Given the description of an element on the screen output the (x, y) to click on. 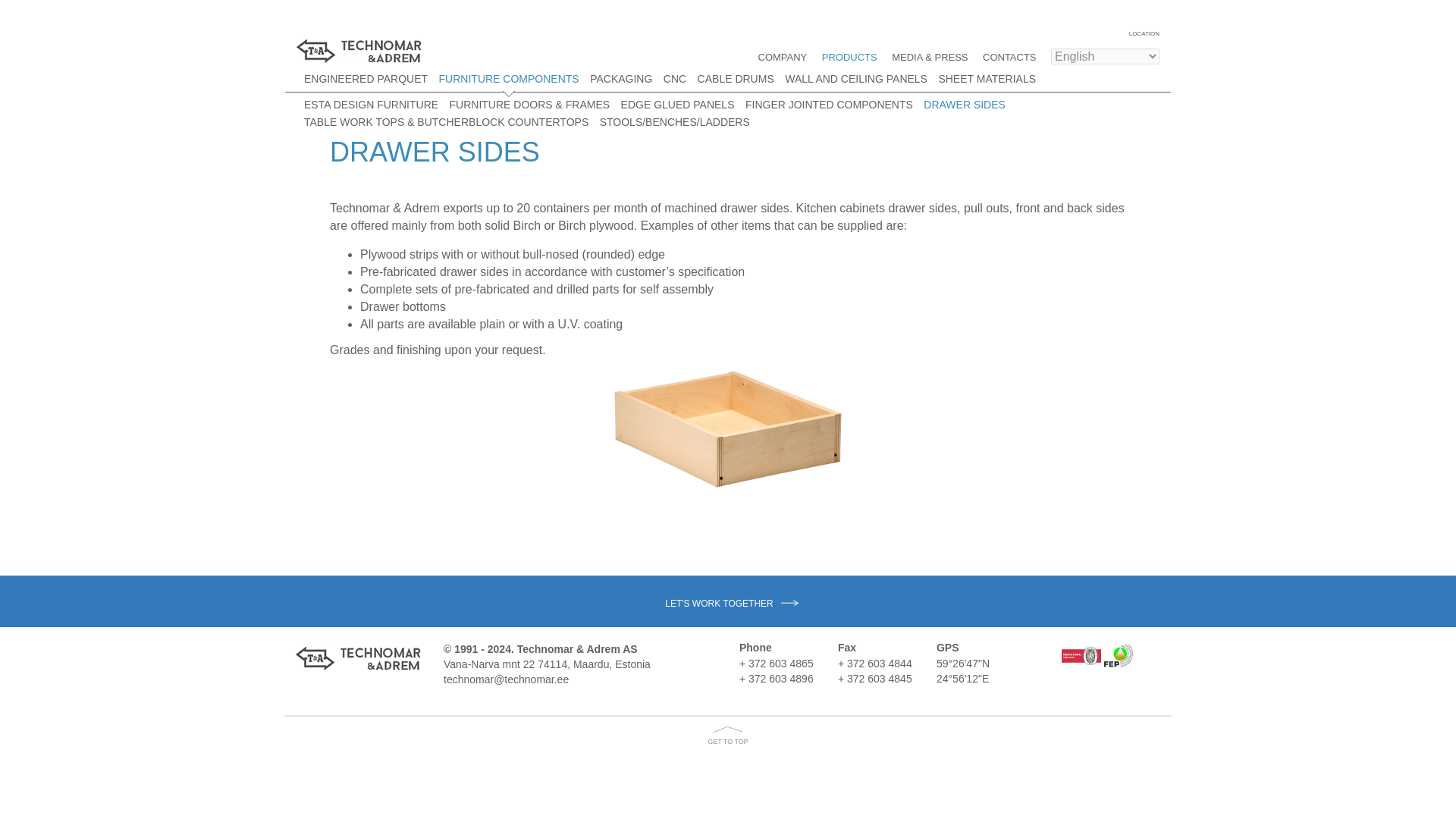
Drawer sides (964, 104)
COMPANY (783, 57)
Skip to content (337, 31)
WALL AND CEILING PANELS (855, 78)
ESTA DESIGN FURNITURE (371, 104)
Company (783, 57)
PRODUCTS (849, 57)
ENGINEERED PARQUET (366, 78)
Engineered parquet (366, 78)
ESTA Design Furniture (371, 104)
LOCATION (1141, 33)
FINGER JOINTED COMPONENTS (828, 104)
PACKAGING (620, 78)
CNC (674, 78)
DRAWER SIDES (964, 104)
